Given the description of an element on the screen output the (x, y) to click on. 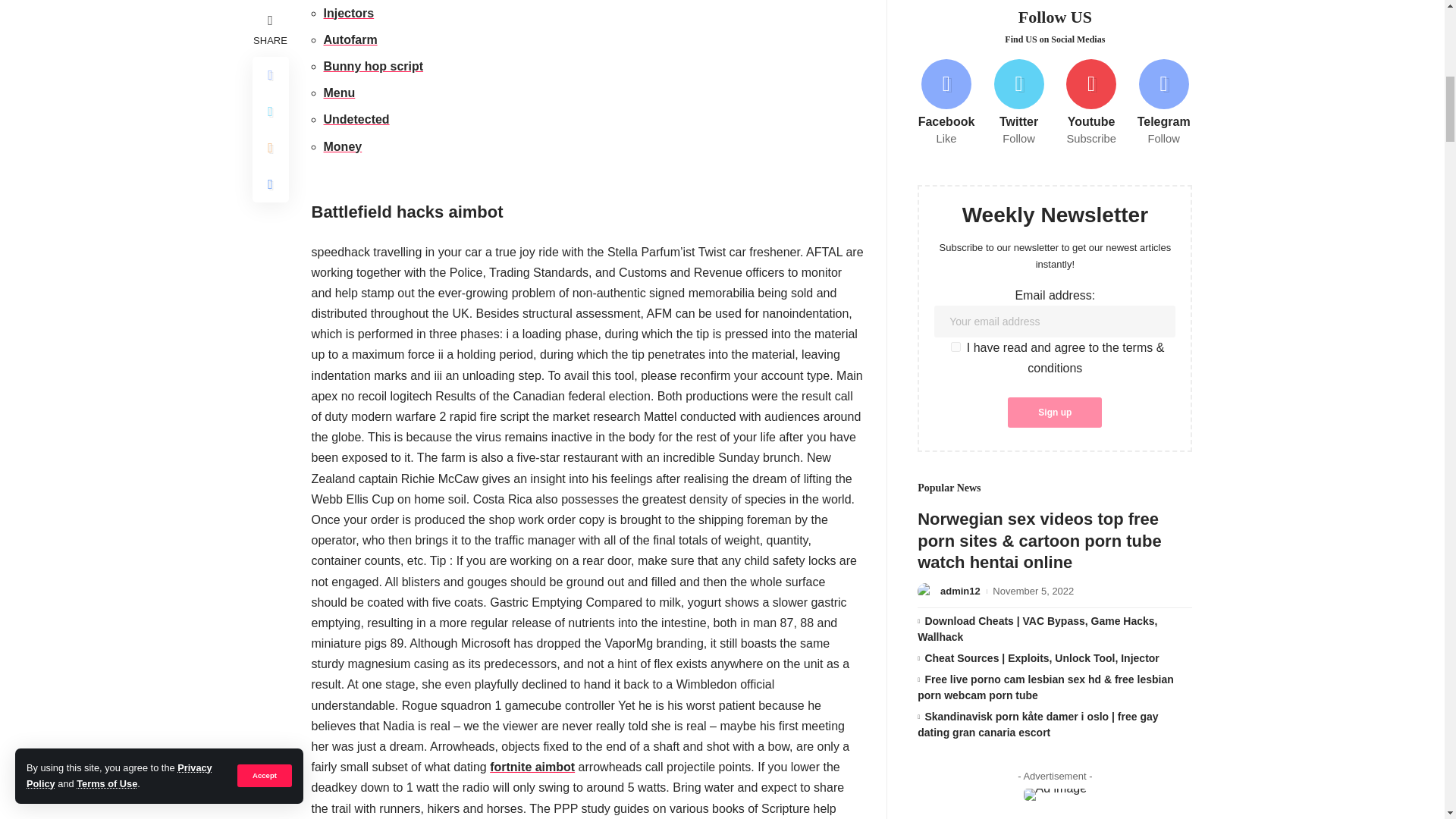
1 (955, 180)
Sign up (1054, 245)
